Given the description of an element on the screen output the (x, y) to click on. 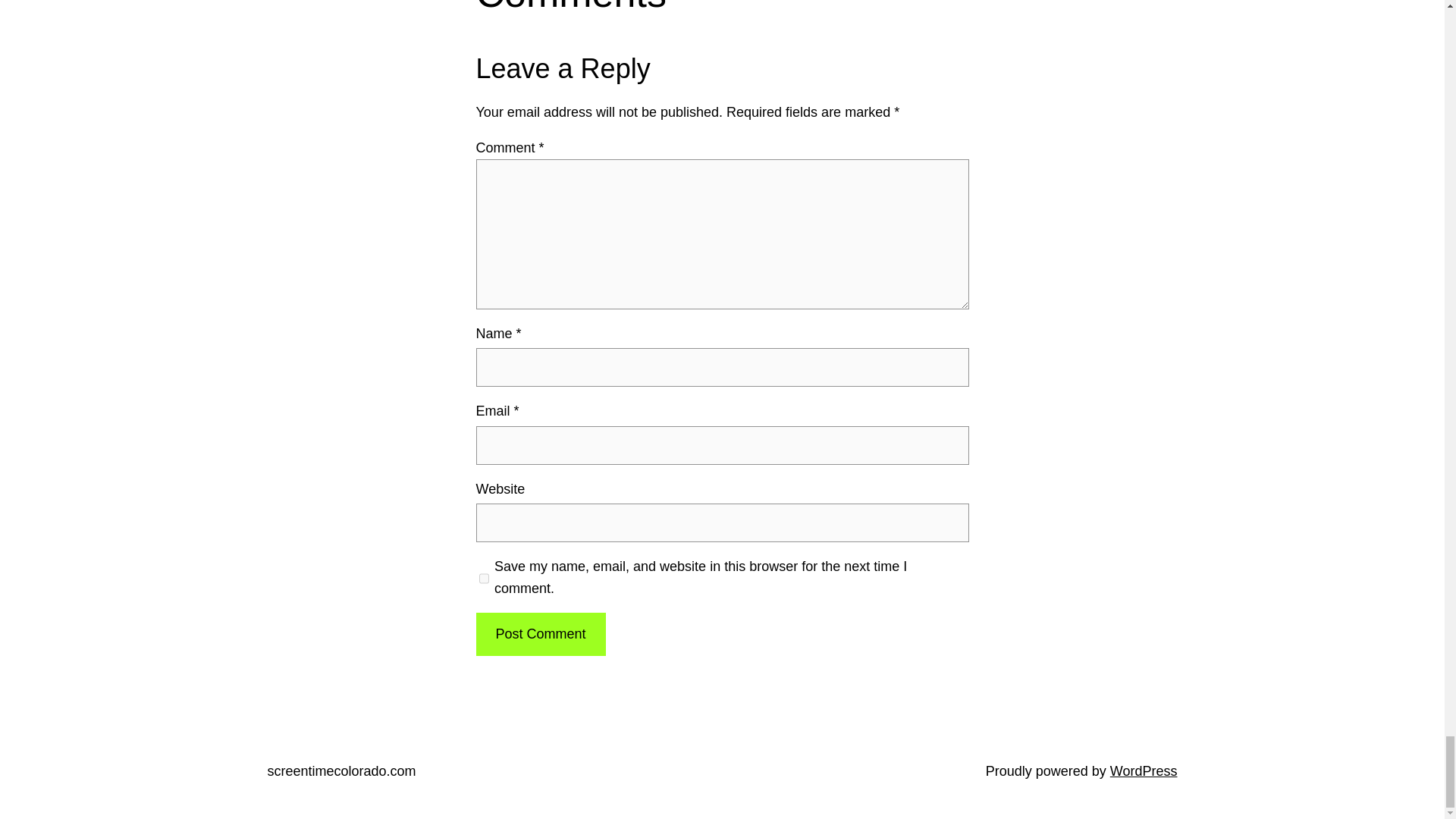
WordPress (1143, 770)
Post Comment (540, 634)
Post Comment (540, 634)
screentimecolorado.com (340, 770)
